Given the description of an element on the screen output the (x, y) to click on. 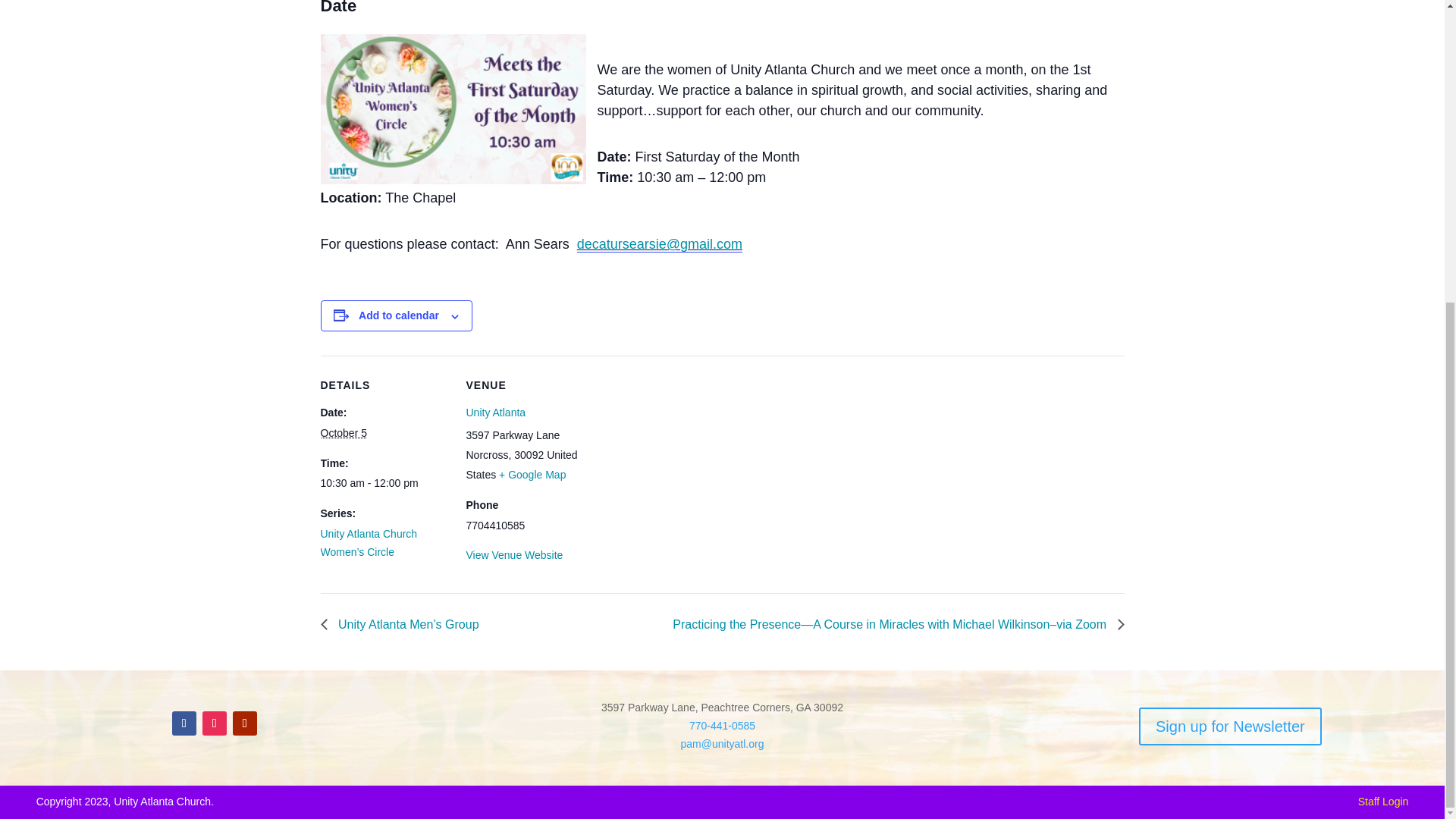
Follow on Facebook (183, 723)
2024-10-05 (383, 484)
2024-10-05 (343, 432)
Click to view a Google Map (532, 474)
Follow on Instagram (214, 723)
